Given the description of an element on the screen output the (x, y) to click on. 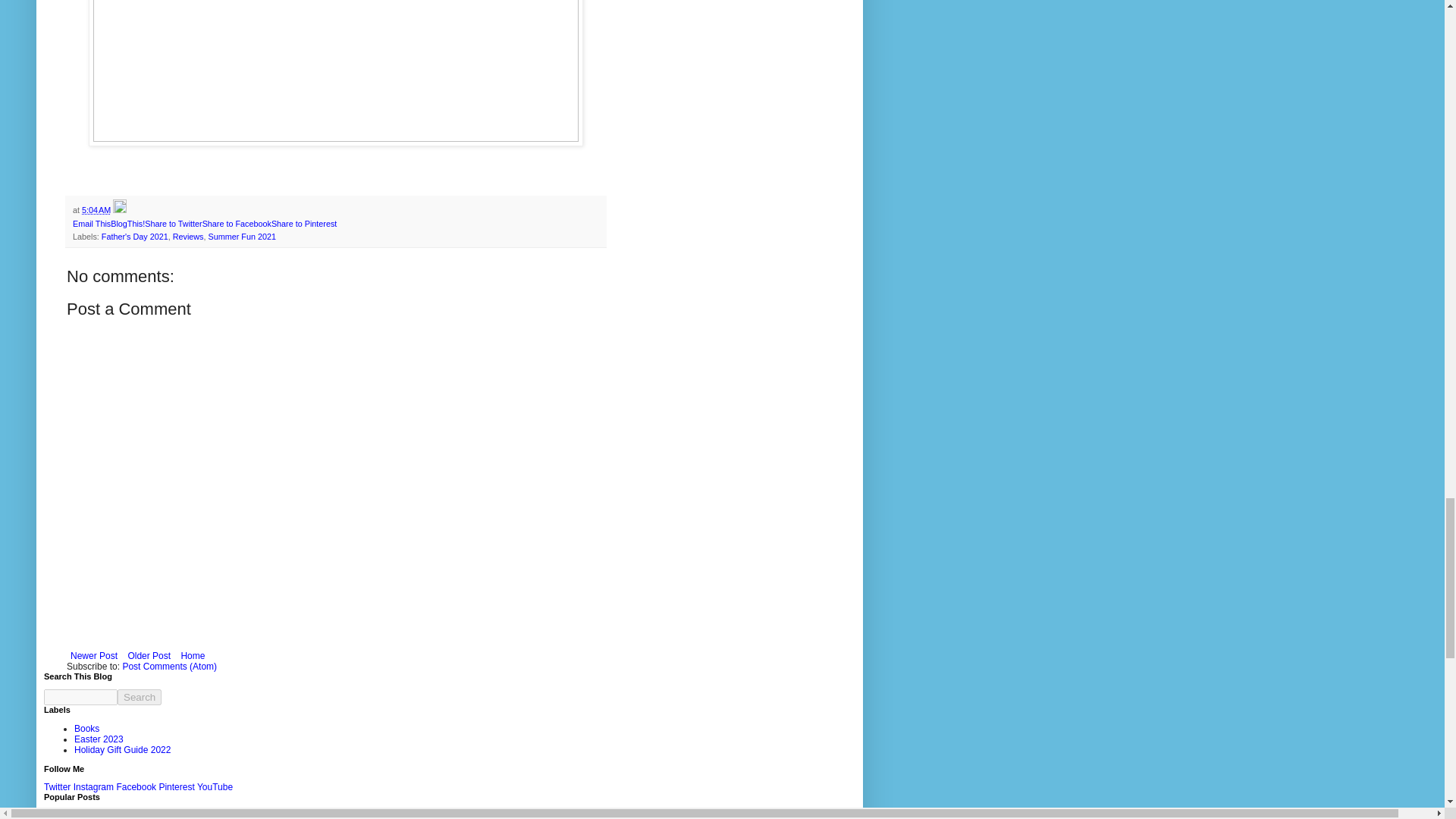
Easter 2023 (98, 738)
Older Post (148, 656)
Twitter (56, 787)
BlogThis! (127, 223)
Share to Twitter (173, 223)
Summer Fun 2021 (242, 235)
permanent link (95, 209)
Newer Post (93, 656)
Email This (91, 223)
Share to Twitter (173, 223)
Email This (91, 223)
Books (86, 728)
Share to Pinterest (303, 223)
BlogThis! (127, 223)
